Given the description of an element on the screen output the (x, y) to click on. 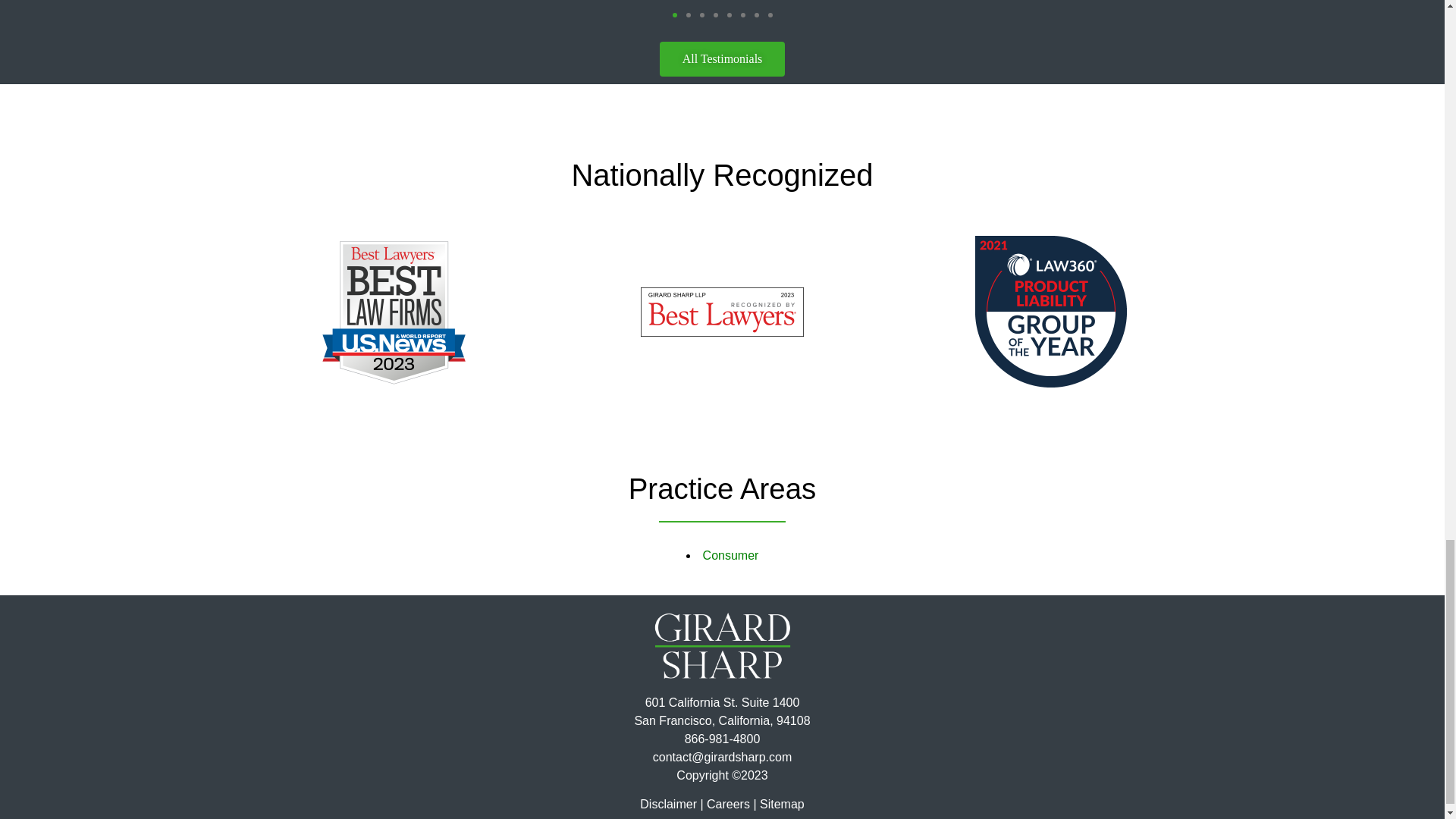
3-Law360-Pracitce-Group-of-the-Year-Badge (1050, 311)
2-Best-Lawyers-Firm-Logo (721, 311)
1-Best-Law-Firms-Standard-Badge (392, 312)
